Given the description of an element on the screen output the (x, y) to click on. 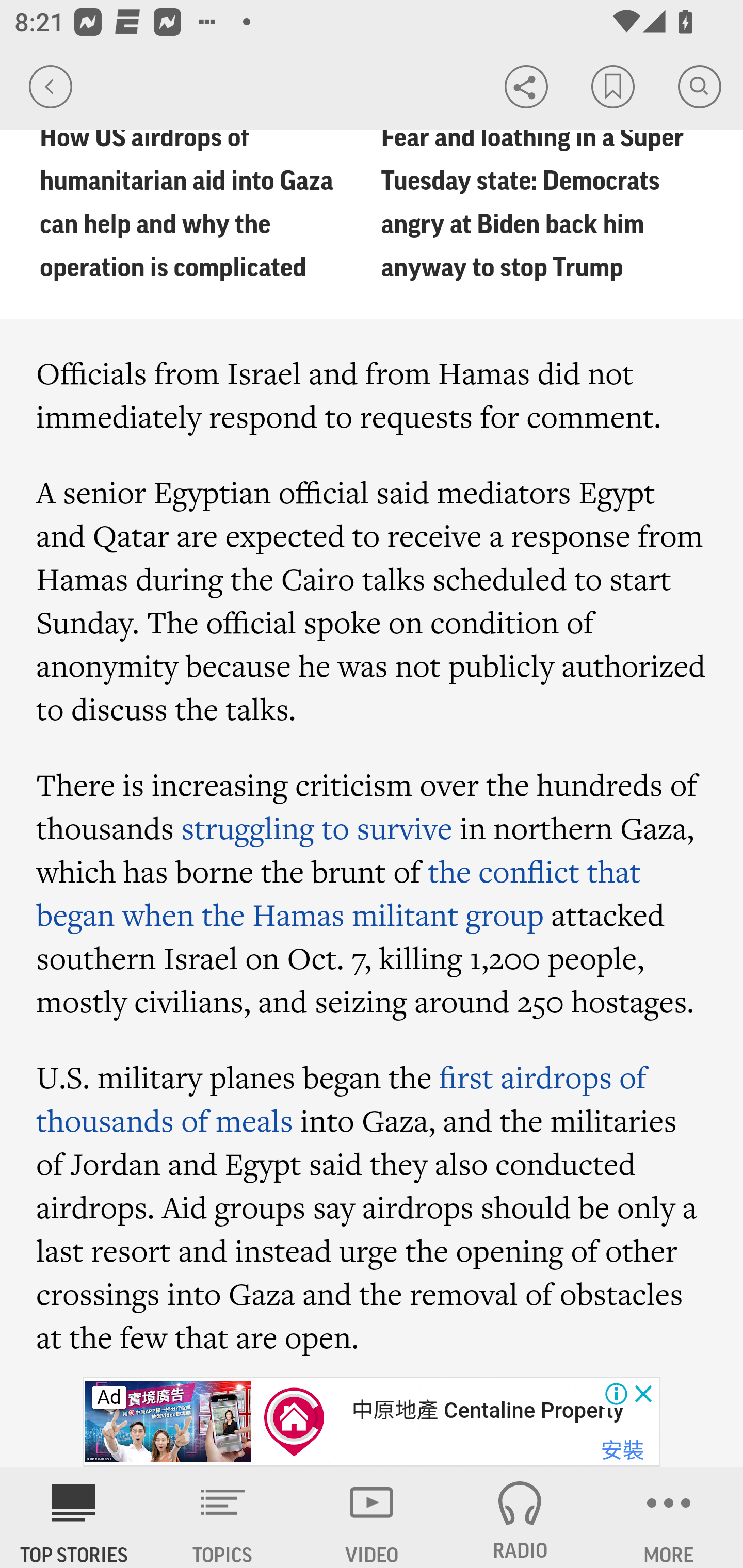
struggling to survive (316, 827)
first airdrops of thousands of meals (341, 1098)
中原地產 Centaline Property (486, 1410)
安裝 (621, 1450)
AP News TOP STORIES (74, 1517)
TOPICS (222, 1517)
VIDEO (371, 1517)
RADIO (519, 1517)
MORE (668, 1517)
